Given the description of an element on the screen output the (x, y) to click on. 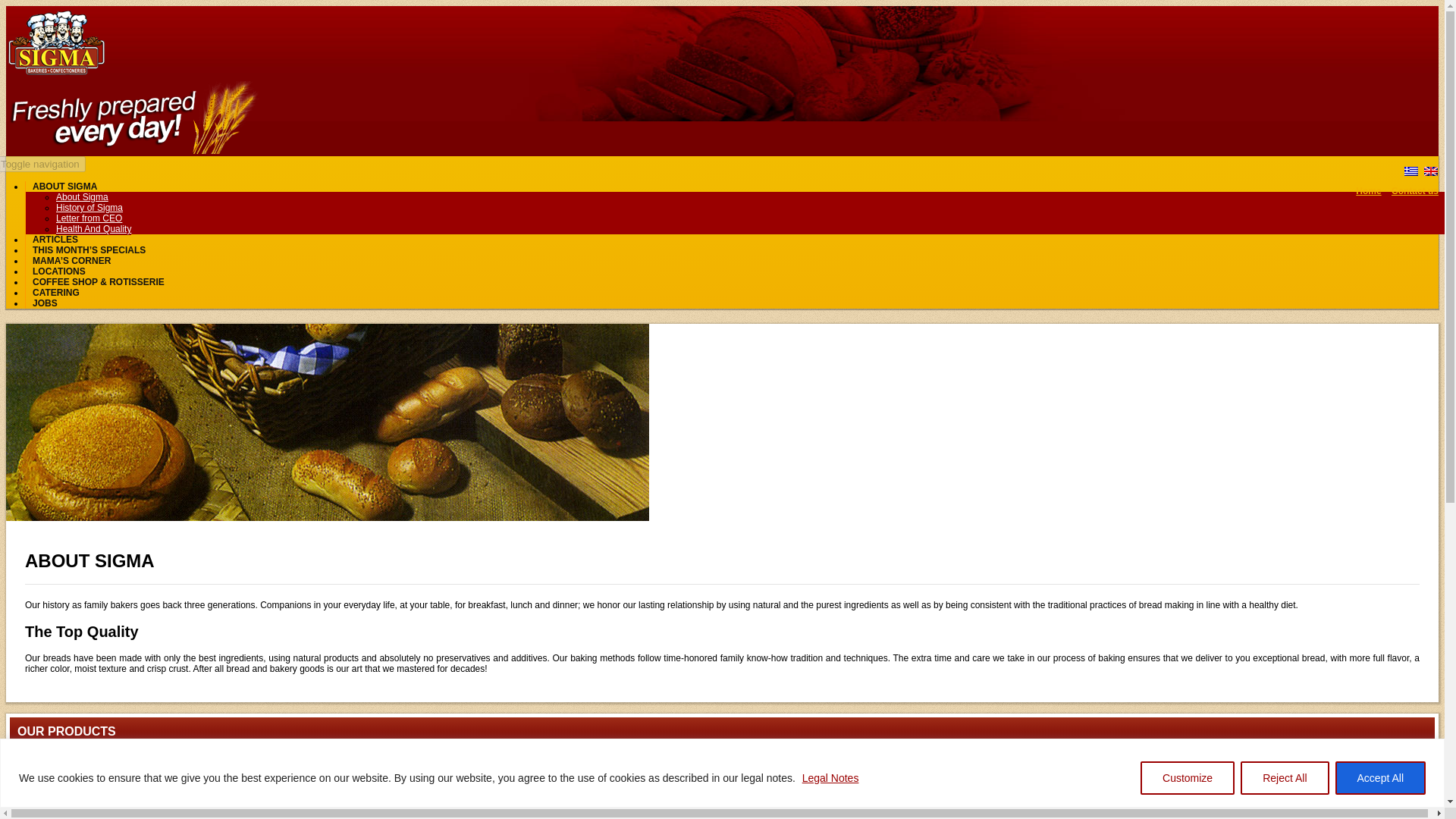
JOBS (45, 302)
ABOUT SIGMA (64, 186)
CATERING (55, 292)
Accept All (1380, 777)
Letter from CEO (89, 218)
About Sigma (81, 197)
PASTRIES AND PIES (722, 802)
Home (1367, 190)
BREAD (722, 757)
LOCATIONS (59, 271)
ARTICLES (55, 239)
Reject All (1283, 777)
Legal Notes (831, 776)
Contact us (1414, 190)
